Given the description of an element on the screen output the (x, y) to click on. 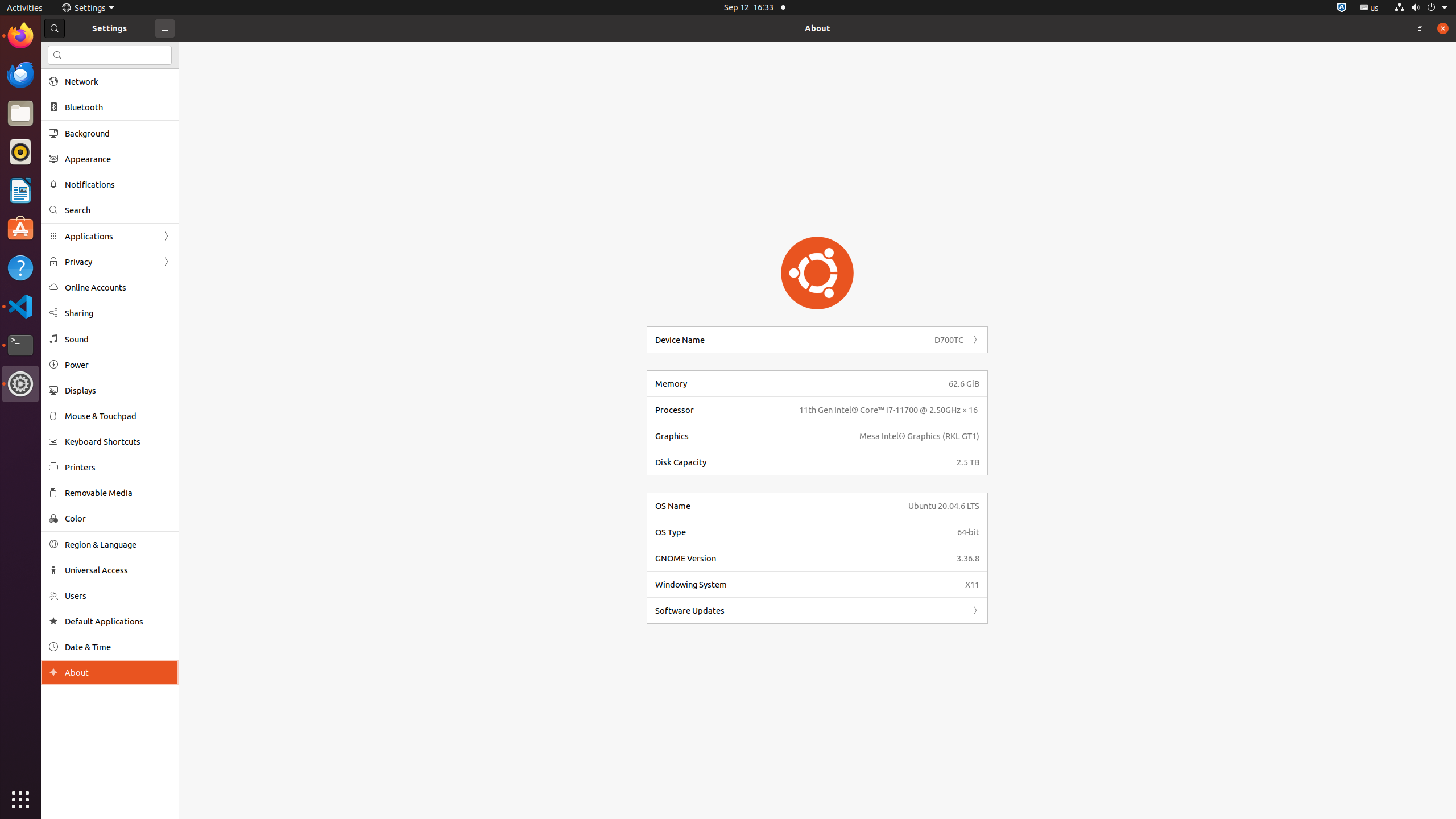
Power Element type: label (117, 364)
Bluetooth Element type: label (117, 107)
64-bit Element type: label (968, 531)
Settings Element type: menu (87, 7)
